Given the description of an element on the screen output the (x, y) to click on. 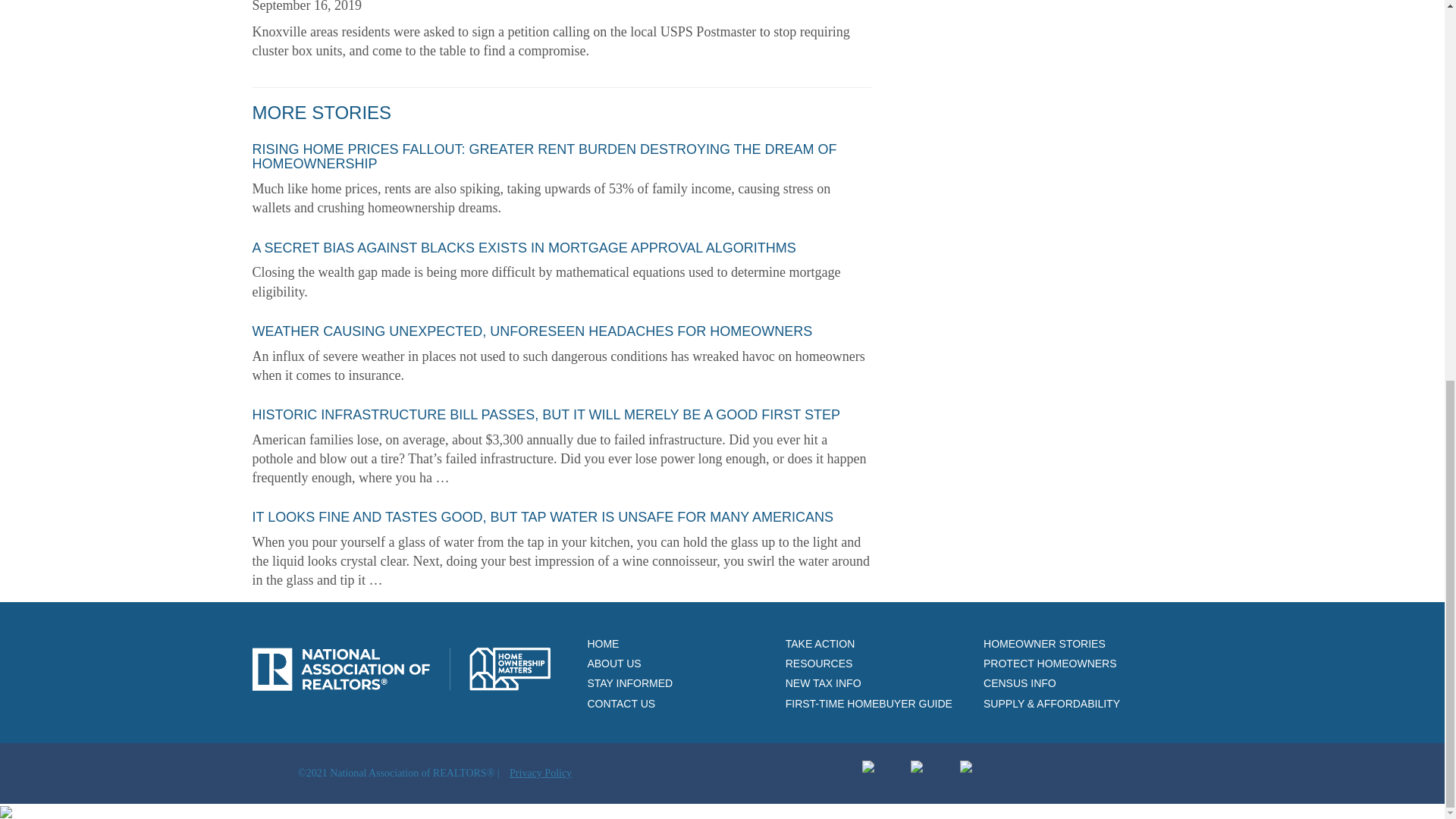
ABOUT US (610, 658)
FIRST-TIME HOMEBUYER GUIDE (864, 699)
HOME (598, 639)
STAY INFORMED (625, 678)
PROTECT HOMEOWNERS (1045, 658)
RESOURCES (813, 658)
TAKE ACTION (815, 639)
CENSUS INFO (1015, 678)
